Given the description of an element on the screen output the (x, y) to click on. 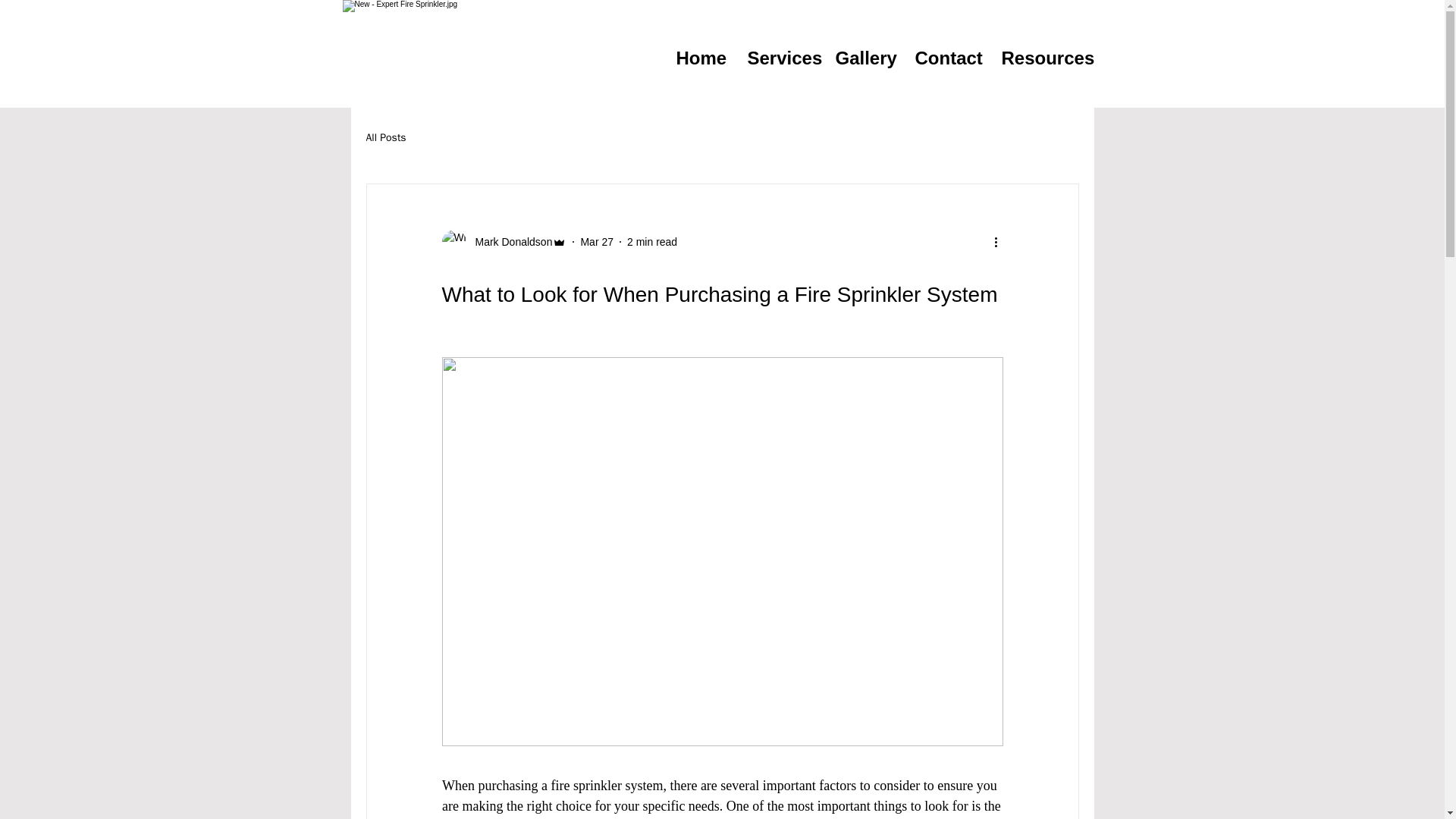
Resources (1042, 53)
Contact (947, 53)
Mark Donaldson (503, 241)
2 min read (652, 241)
Home (699, 53)
Services (779, 53)
Mark Donaldson (508, 241)
Mar 27 (595, 241)
Gallery (863, 53)
All Posts (385, 137)
